Given the description of an element on the screen output the (x, y) to click on. 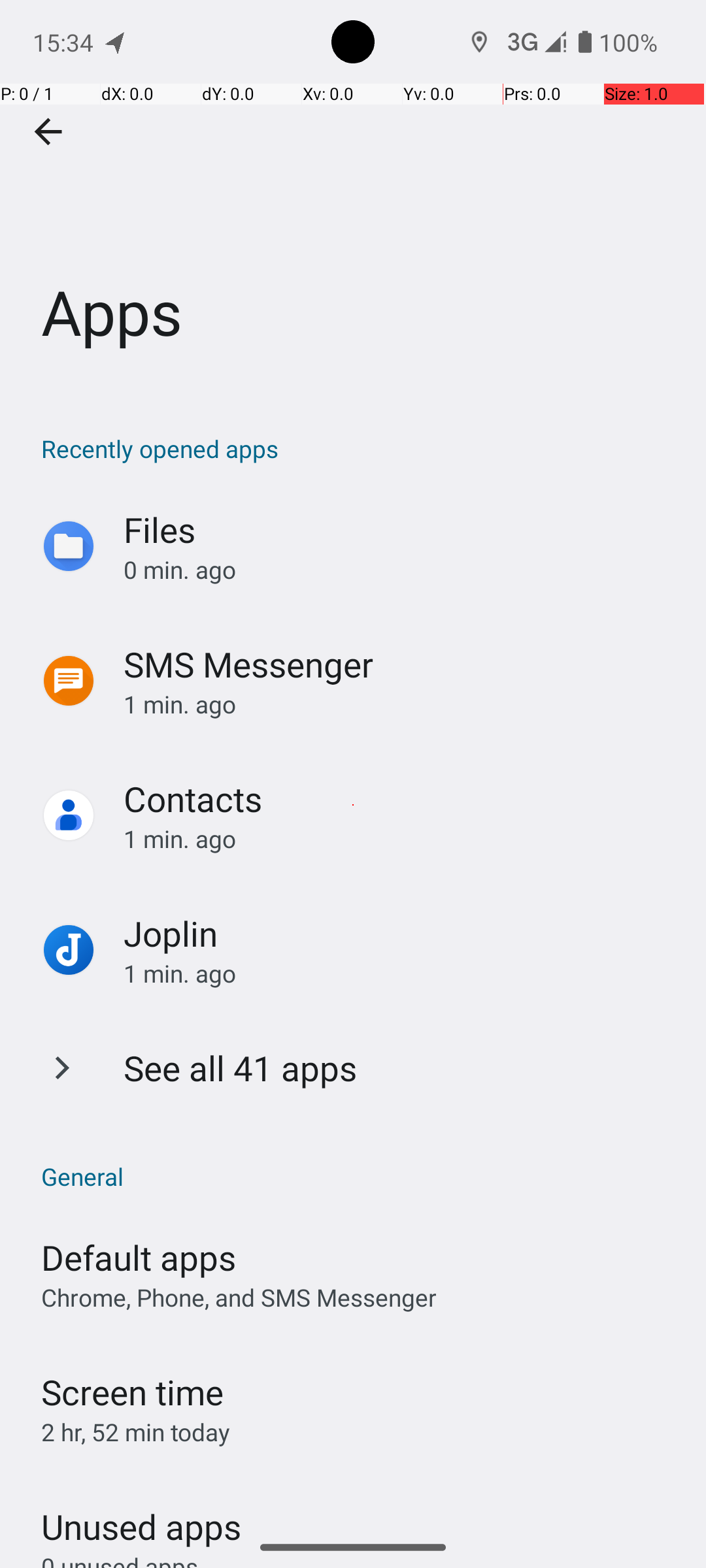
Recently opened apps Element type: android.widget.TextView (359, 448)
0 min. ago Element type: android.widget.TextView (400, 569)
1 min. ago Element type: android.widget.TextView (400, 703)
See all 41 apps Element type: android.widget.TextView (239, 1067)
Default apps Element type: android.widget.TextView (138, 1257)
Chrome, Phone, and SMS Messenger Element type: android.widget.TextView (238, 1296)
2 hr, 52 min today Element type: android.widget.TextView (135, 1431)
Unused apps Element type: android.widget.TextView (141, 1514)
